Given the description of an element on the screen output the (x, y) to click on. 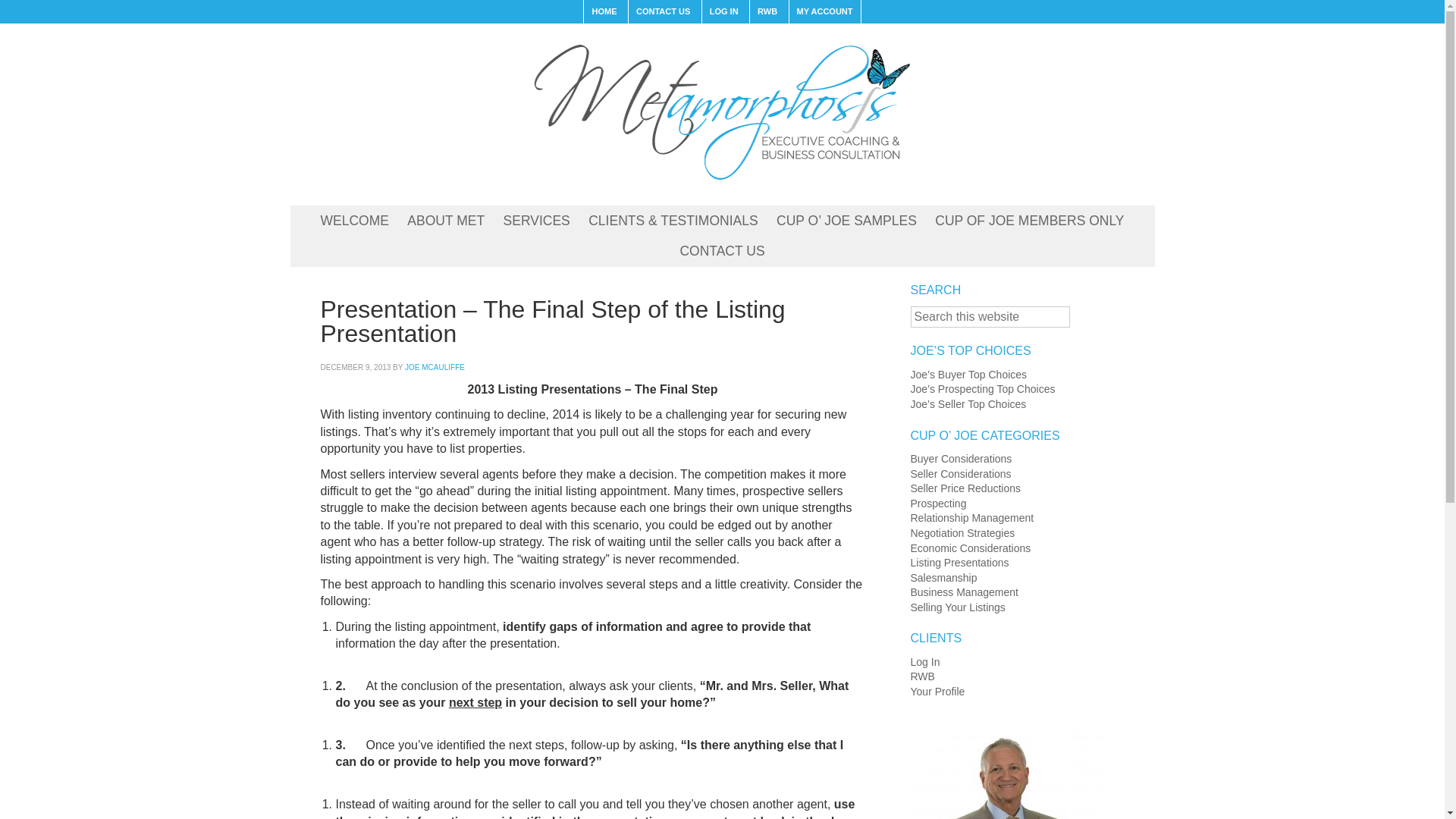
MY ACCOUNT (824, 11)
HOME (603, 11)
METAMORPHOSIS CONSULTING, INC. (721, 111)
ABOUT MET (445, 220)
WELCOME (354, 220)
CONTACT US (662, 11)
JOE MCAULIFFE (434, 367)
RWB (766, 11)
CUP OF JOE MEMBERS ONLY (1029, 220)
CONTACT US (721, 250)
LOG IN (723, 11)
SERVICES (537, 220)
